Given the description of an element on the screen output the (x, y) to click on. 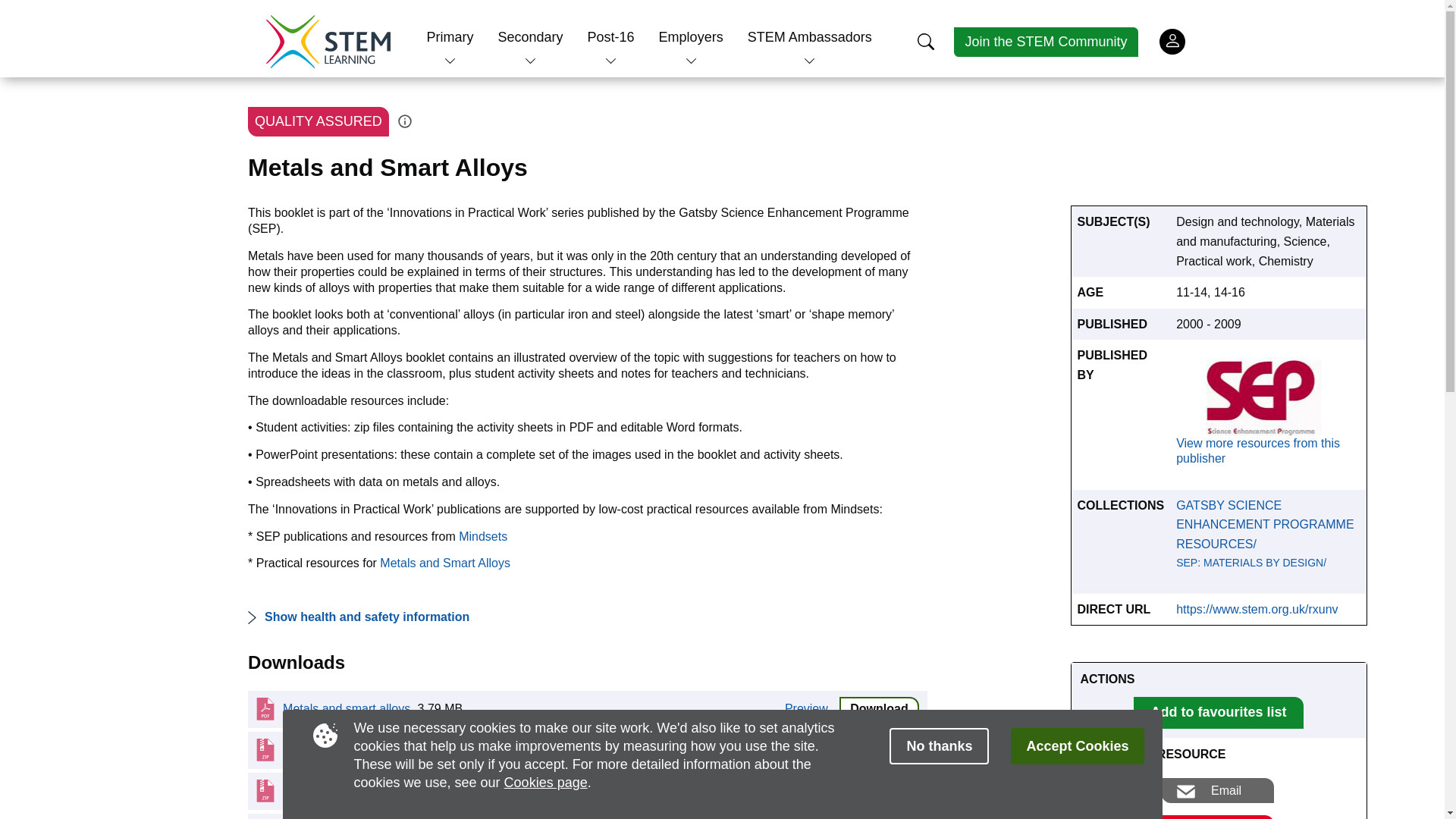
Primary (449, 37)
STEM Ambassadors (810, 37)
Post-16 (611, 37)
Secondary (529, 37)
Gatsby Science Enhancement Programme (1267, 395)
Employers (691, 37)
Home (327, 40)
